Given the description of an element on the screen output the (x, y) to click on. 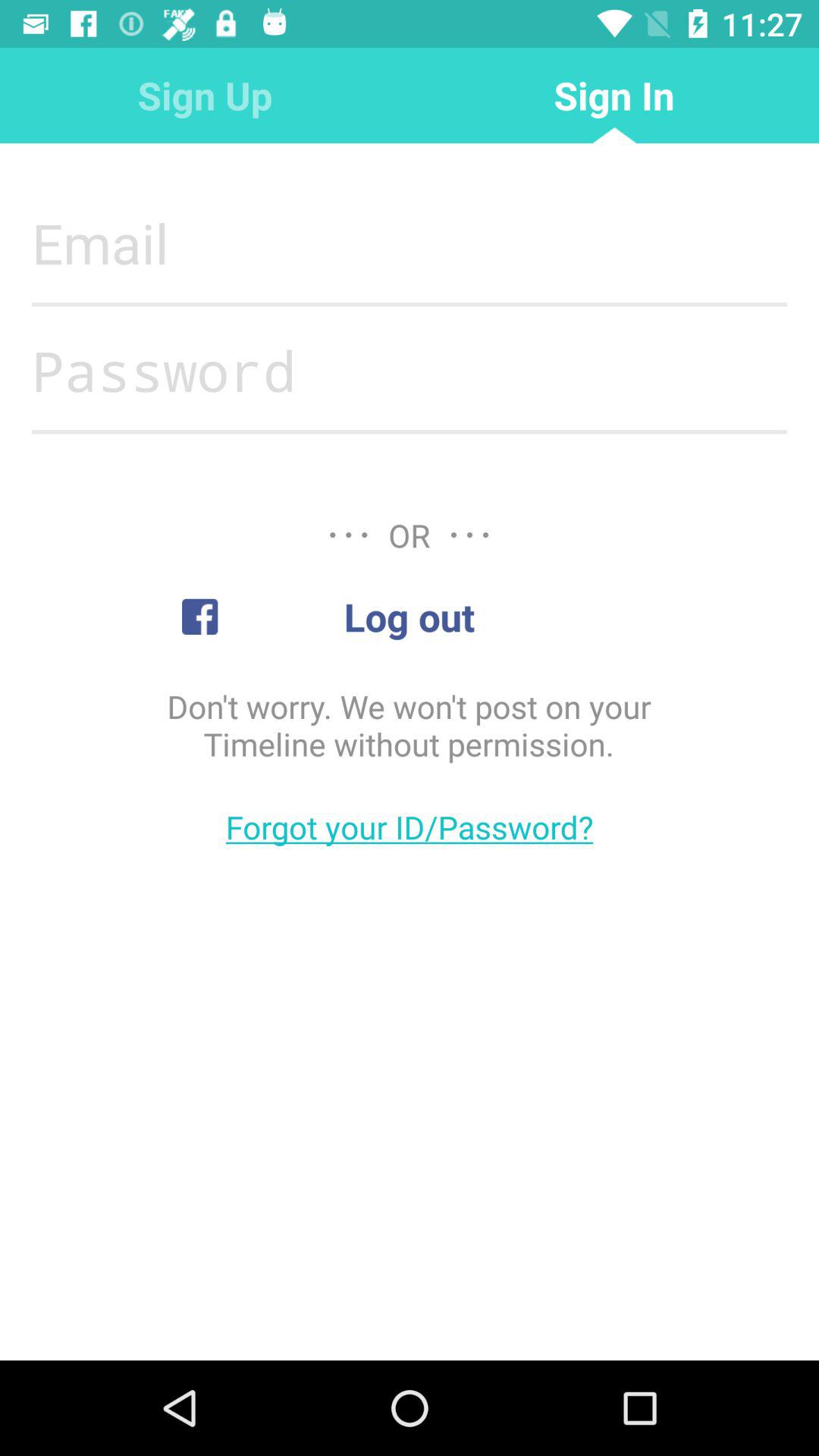
press log out (409, 616)
